Given the description of an element on the screen output the (x, y) to click on. 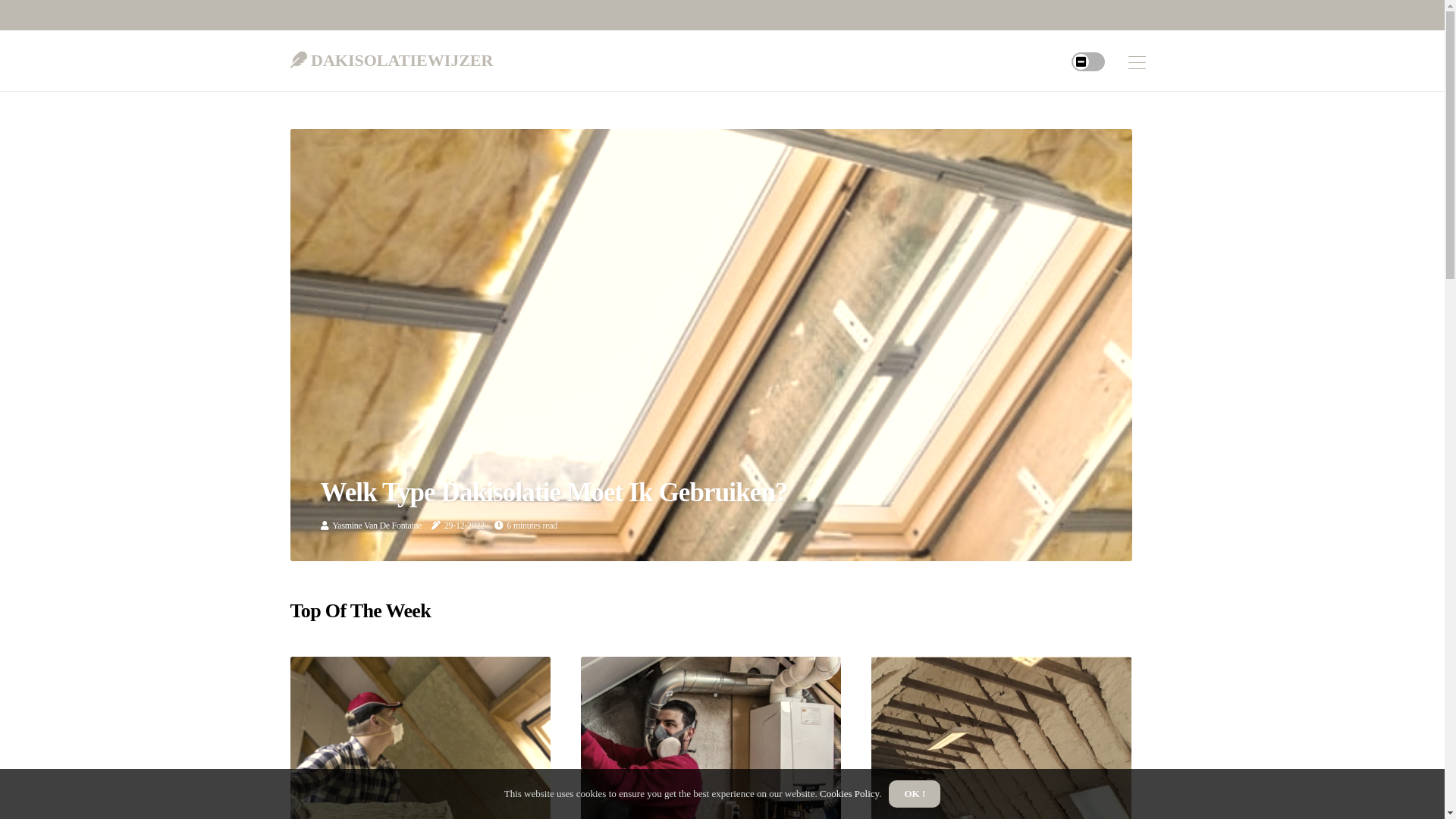
Welk Type Dakisolatie Moet Ik Gebruiken? Element type: text (553, 492)
Cookies Policy Element type: text (848, 793)
Yasmine Van De Fontaine Element type: text (376, 525)
dakisolatiewijzer Element type: text (390, 56)
